Given the description of an element on the screen output the (x, y) to click on. 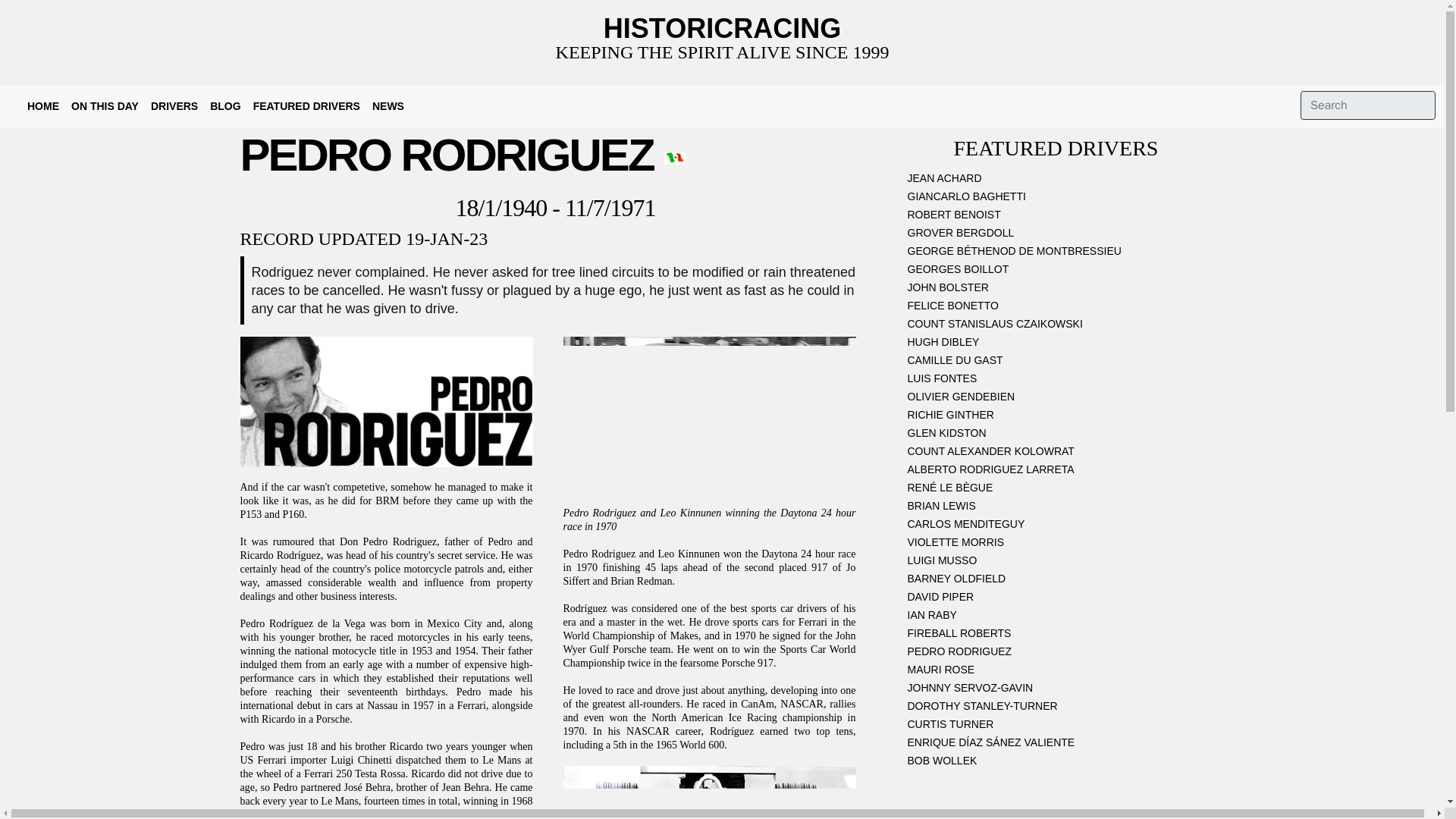
HISTORICRACING (722, 28)
IAN RABY (1055, 618)
HOME (43, 105)
FEATURED DRIVERS (306, 105)
DOROTHY STANLEY-TURNER (1055, 709)
LUIGI MUSSO (1055, 563)
JEAN ACHARD (1055, 180)
JOHN BOLSTER (1055, 290)
DRIVERS (173, 105)
BARNEY OLDFIELD (1055, 581)
